Given the description of an element on the screen output the (x, y) to click on. 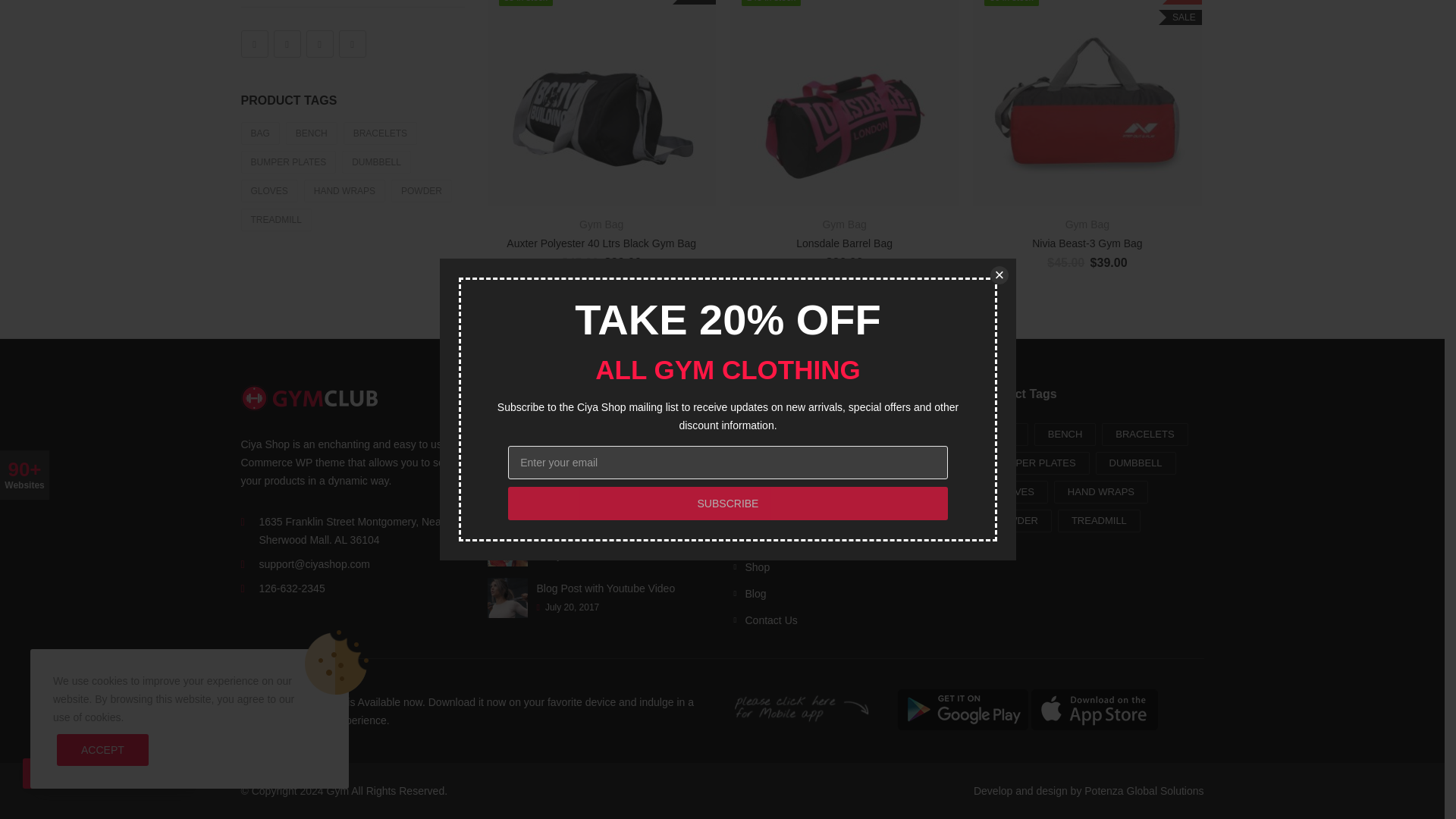
Dribbble (319, 43)
Twitter (286, 43)
Facebook (254, 43)
Vimeo (351, 43)
